Given the description of an element on the screen output the (x, y) to click on. 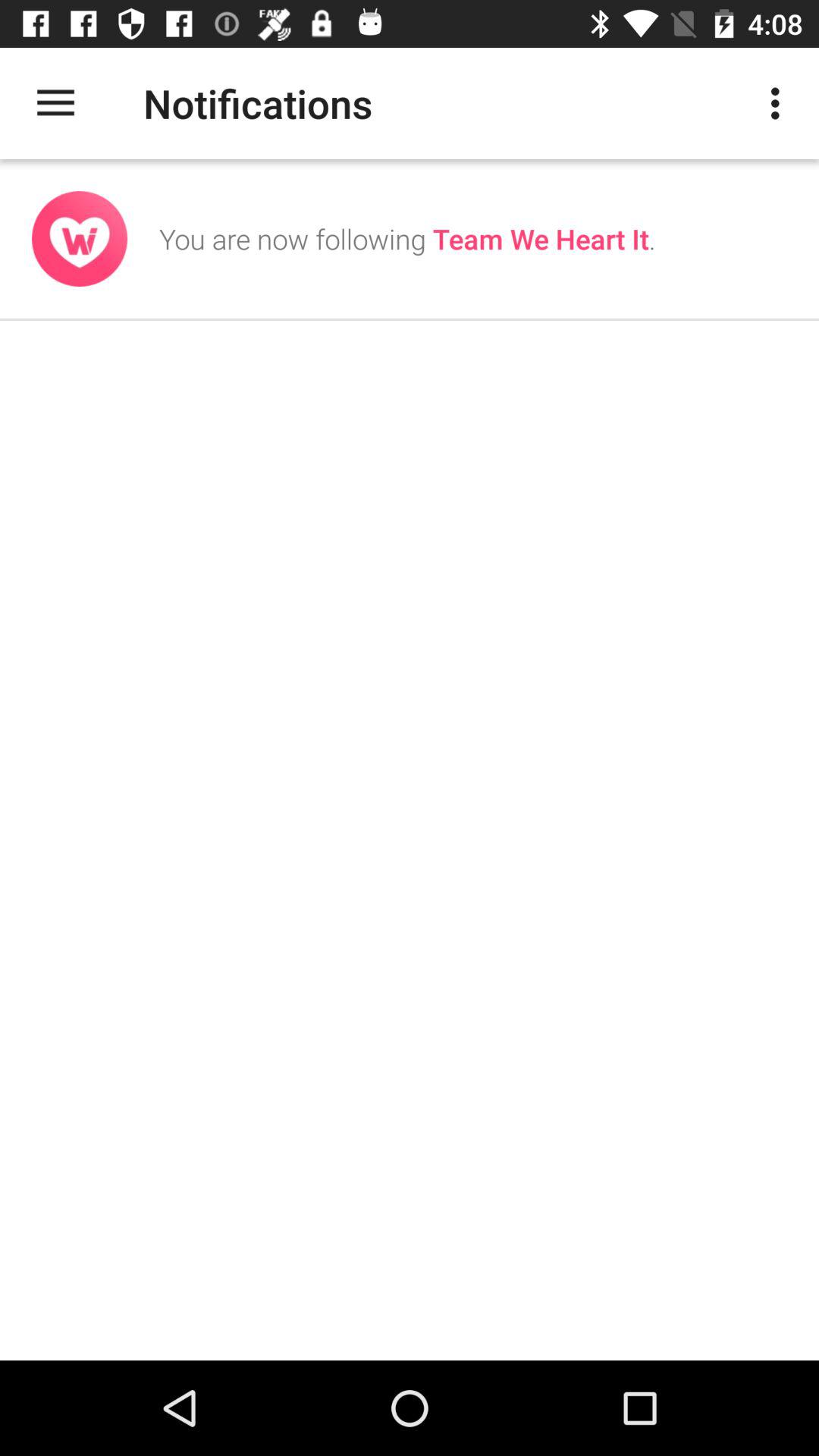
tap the icon at the top right corner (779, 103)
